Given the description of an element on the screen output the (x, y) to click on. 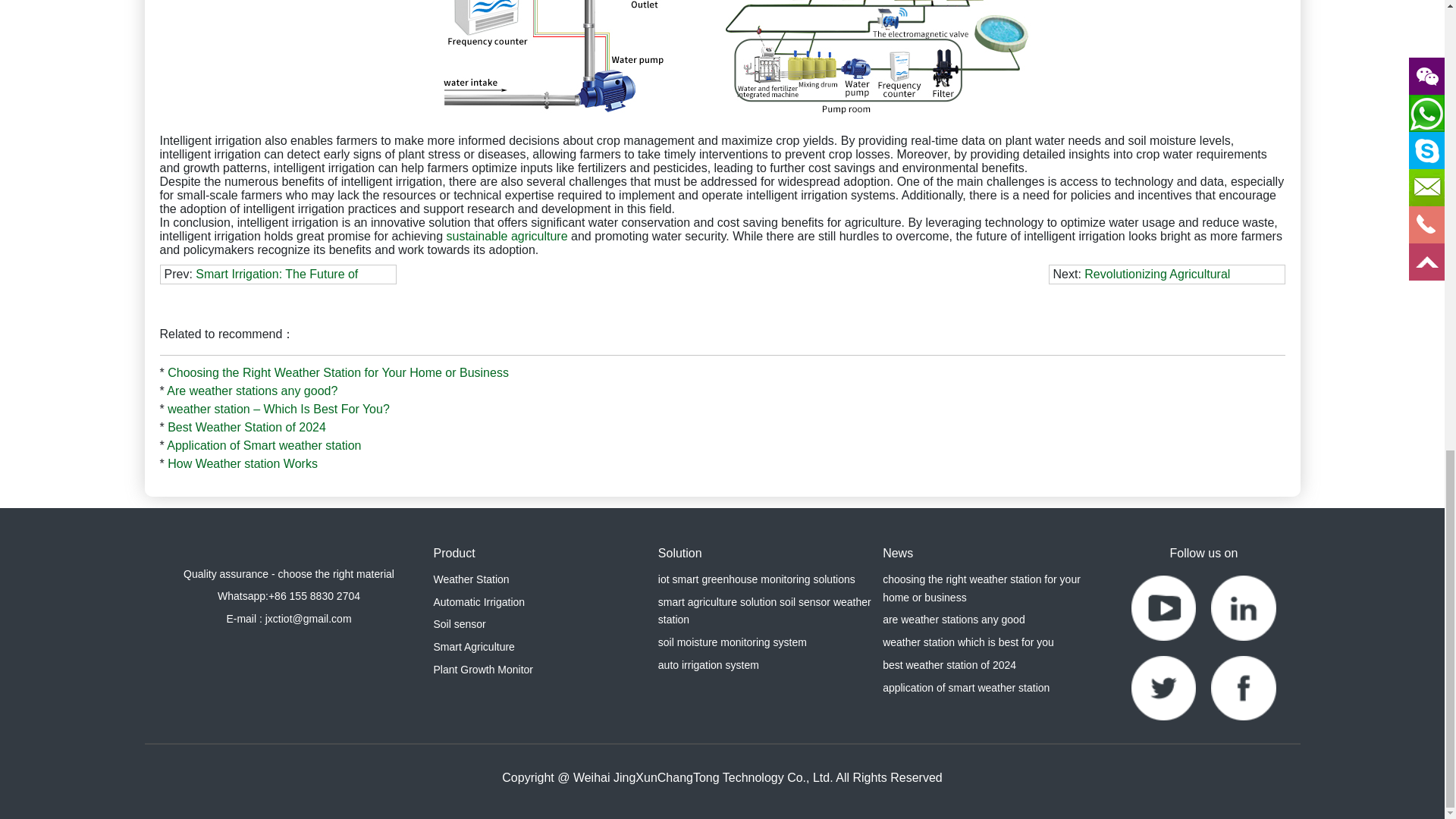
Choosing the Right Weather Station for Your Home or Business (337, 372)
Are weather stations any good? (252, 390)
How Weather station Works (242, 463)
Application of Smart weather station (264, 445)
Best Weather Station of 2024 (246, 427)
